Given the description of an element on the screen output the (x, y) to click on. 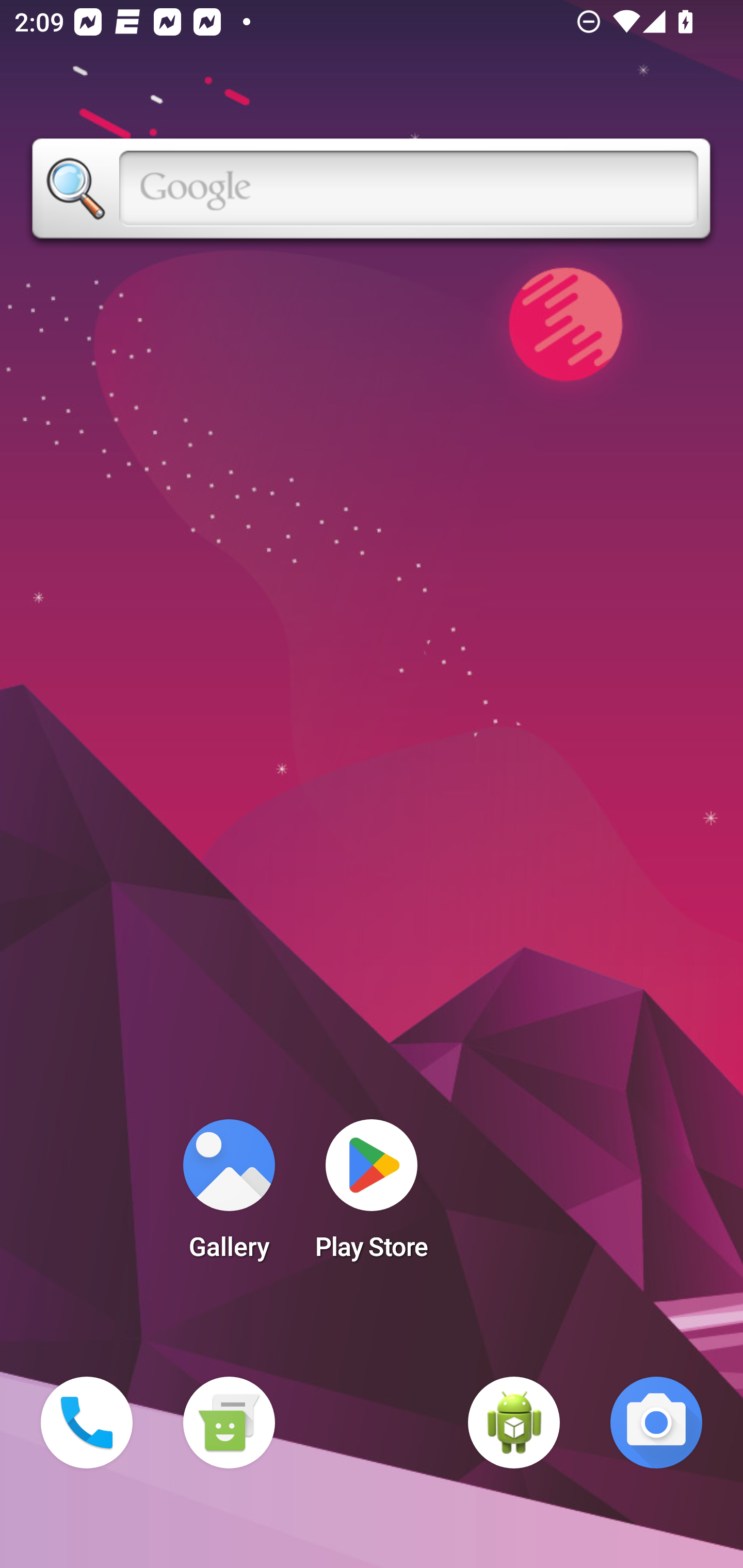
Gallery (228, 1195)
Play Store (371, 1195)
Phone (86, 1422)
Messaging (228, 1422)
WebView Browser Tester (513, 1422)
Camera (656, 1422)
